Given the description of an element on the screen output the (x, y) to click on. 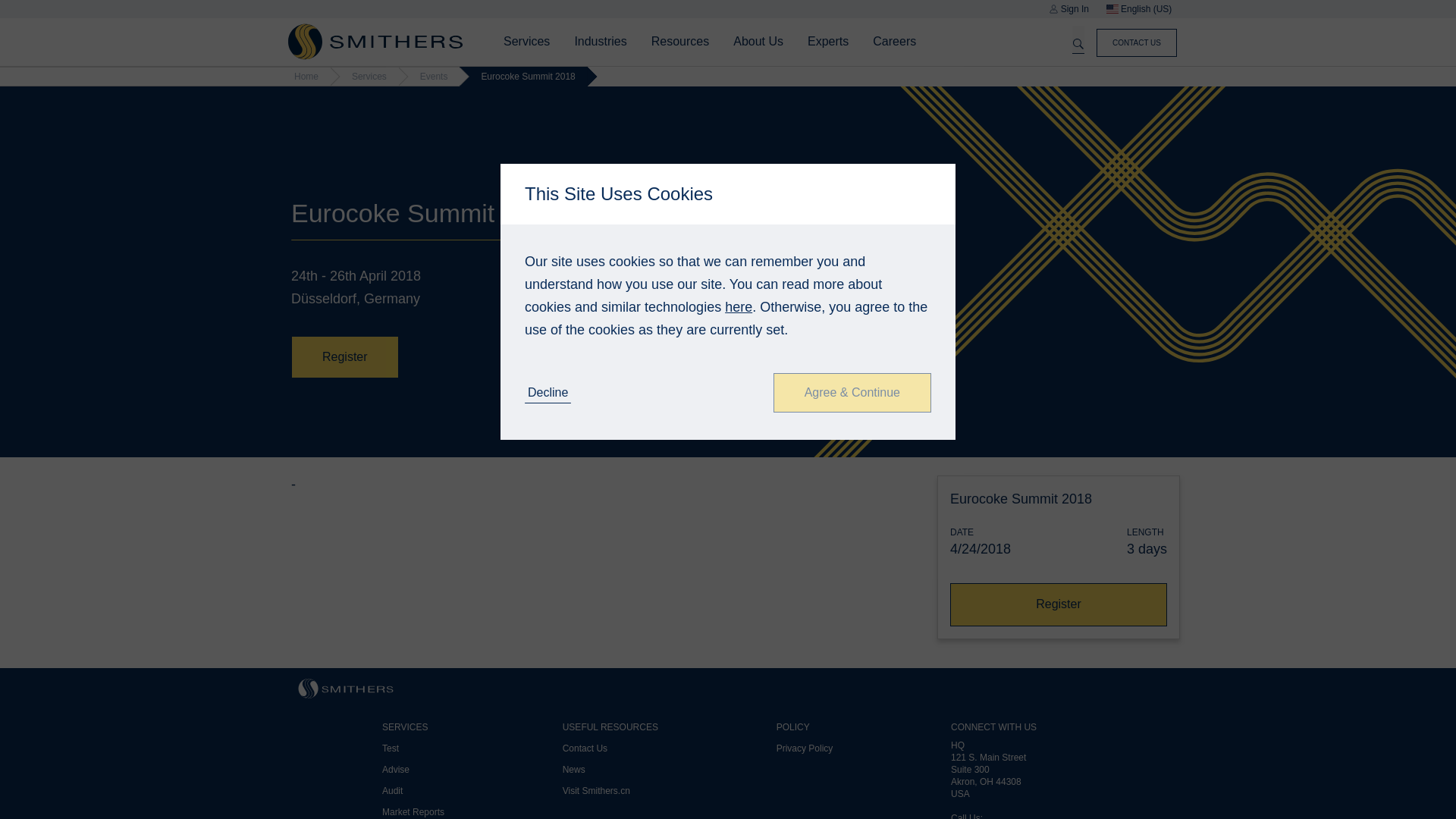
Login (885, 465)
Reset Password (855, 465)
Industries (599, 41)
Home (375, 41)
Sign In (1068, 9)
Services (526, 41)
